Given the description of an element on the screen output the (x, y) to click on. 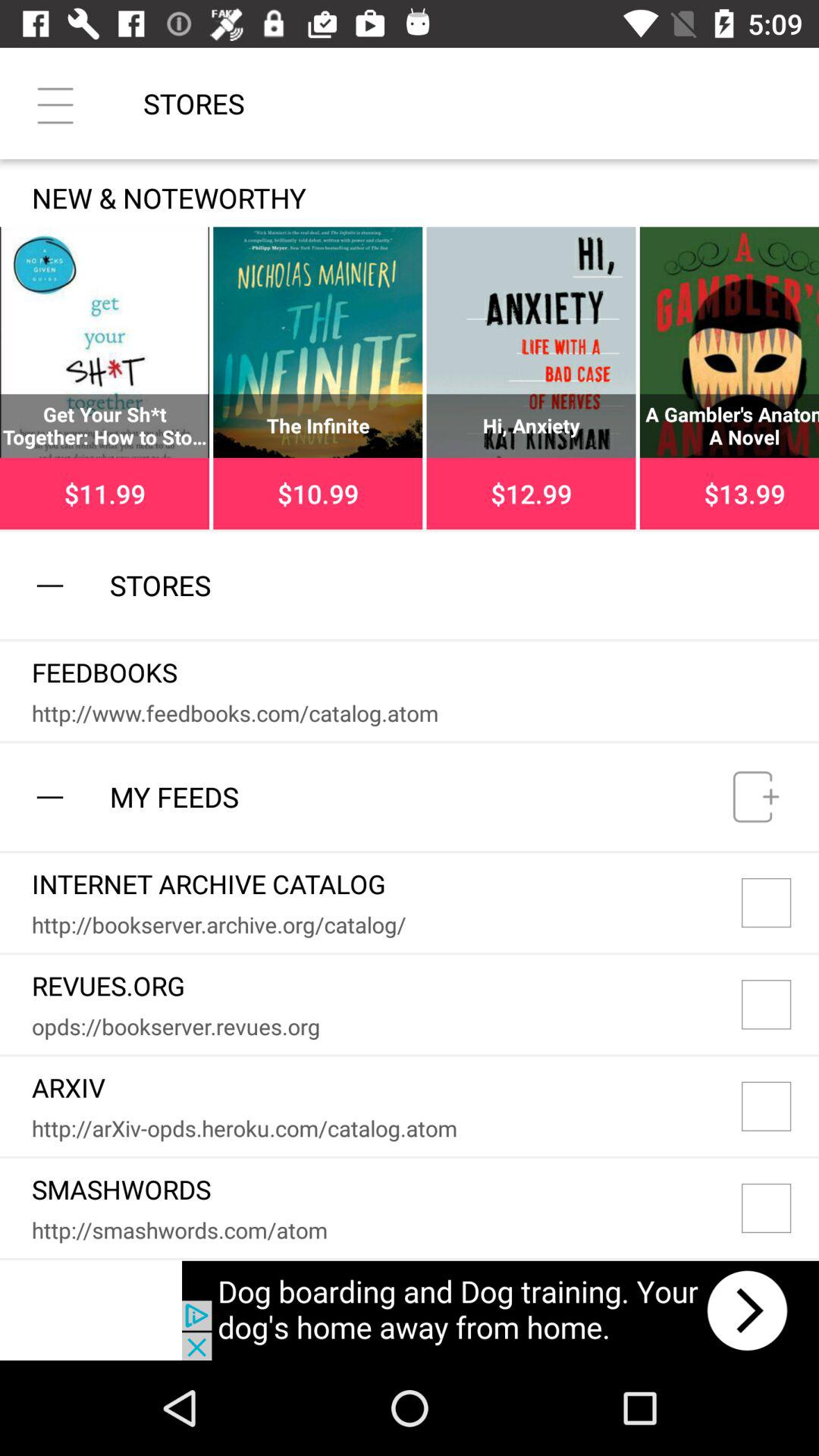
select site (780, 902)
